Given the description of an element on the screen output the (x, y) to click on. 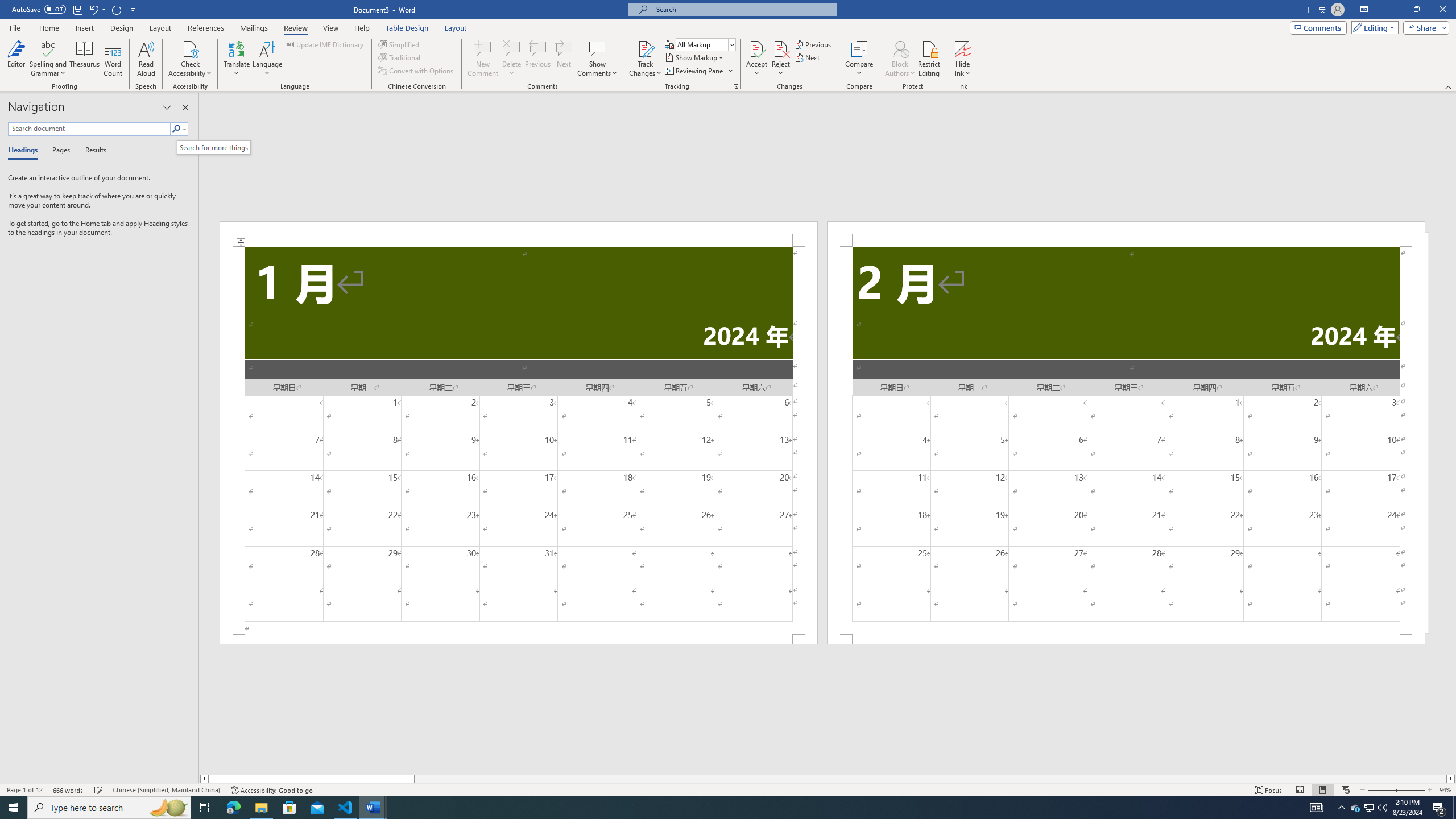
Previous (813, 44)
Word Count (113, 58)
Traditional (400, 56)
Column left (203, 778)
Translate (236, 58)
Reviewing Pane (698, 69)
